Given the description of an element on the screen output the (x, y) to click on. 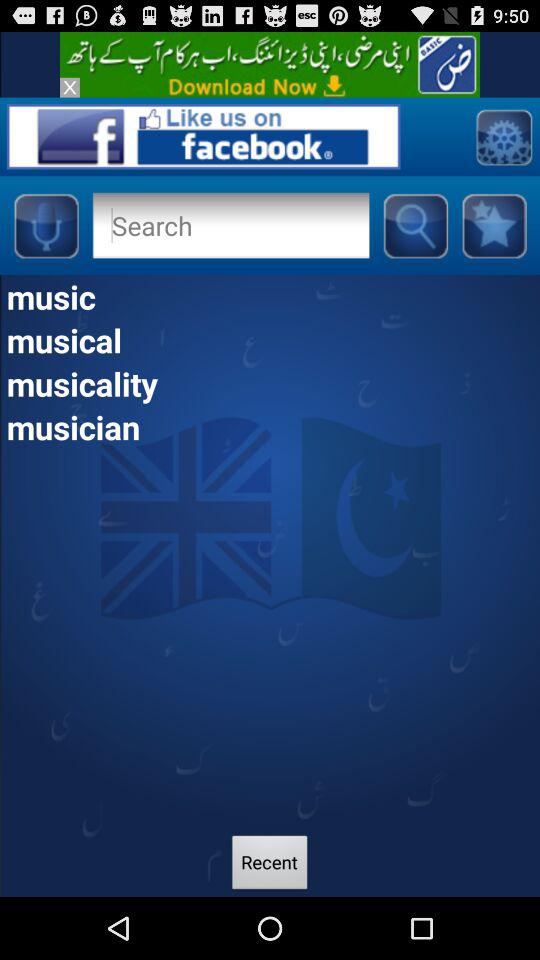
press recent (269, 864)
